Given the description of an element on the screen output the (x, y) to click on. 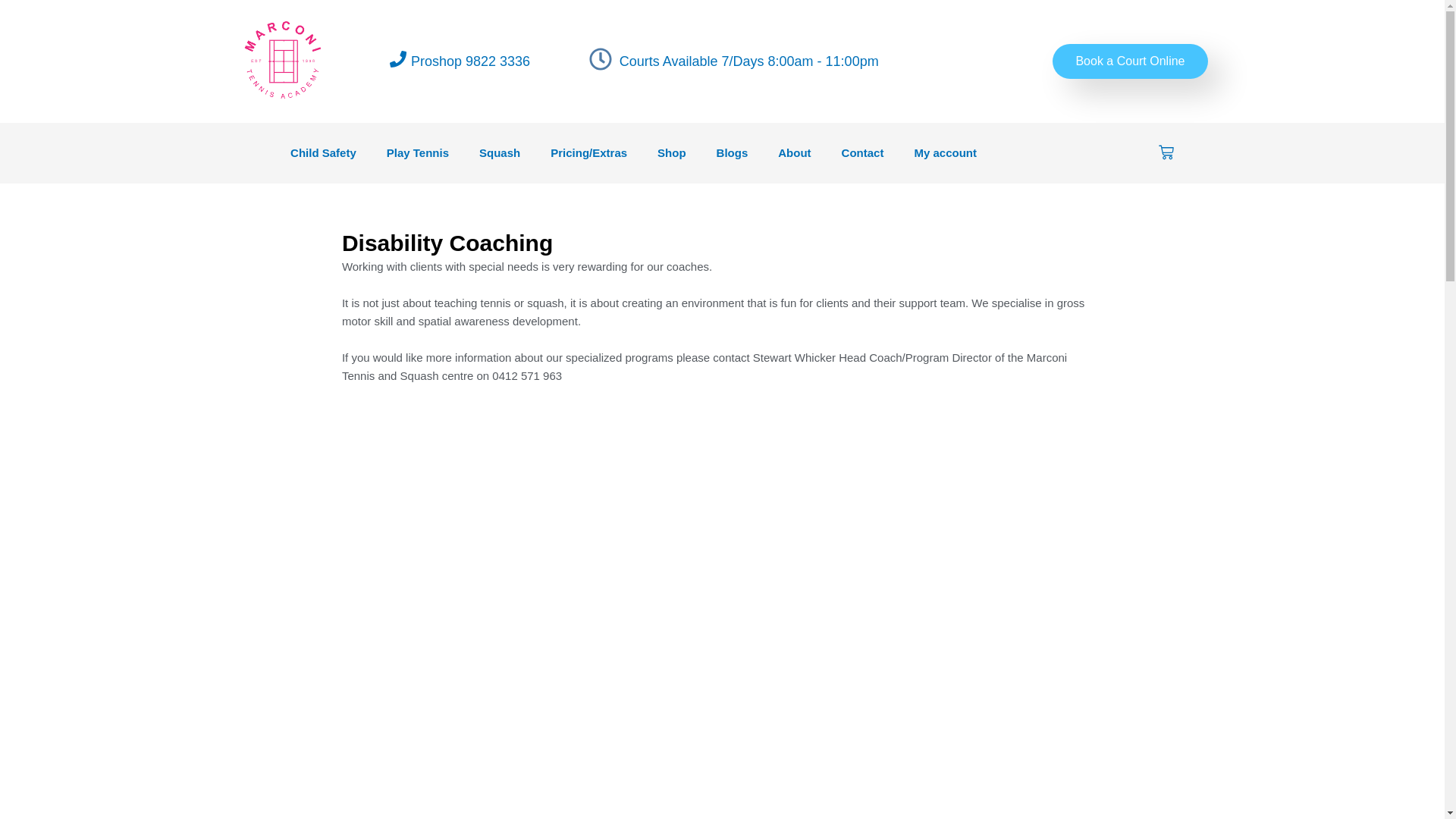
Blogs Element type: text (732, 152)
My account Element type: text (944, 152)
Contact Element type: text (862, 152)
Shop Element type: text (671, 152)
Book a Court Online Element type: text (1129, 60)
Proshop 9822 3336 Element type: text (470, 61)
Cart Element type: text (1166, 152)
Squash Element type: text (499, 152)
Play Tennis Element type: text (417, 152)
Child Safety Element type: text (323, 152)
Pricing/Extras Element type: text (588, 152)
About Element type: text (793, 152)
